Given the description of an element on the screen output the (x, y) to click on. 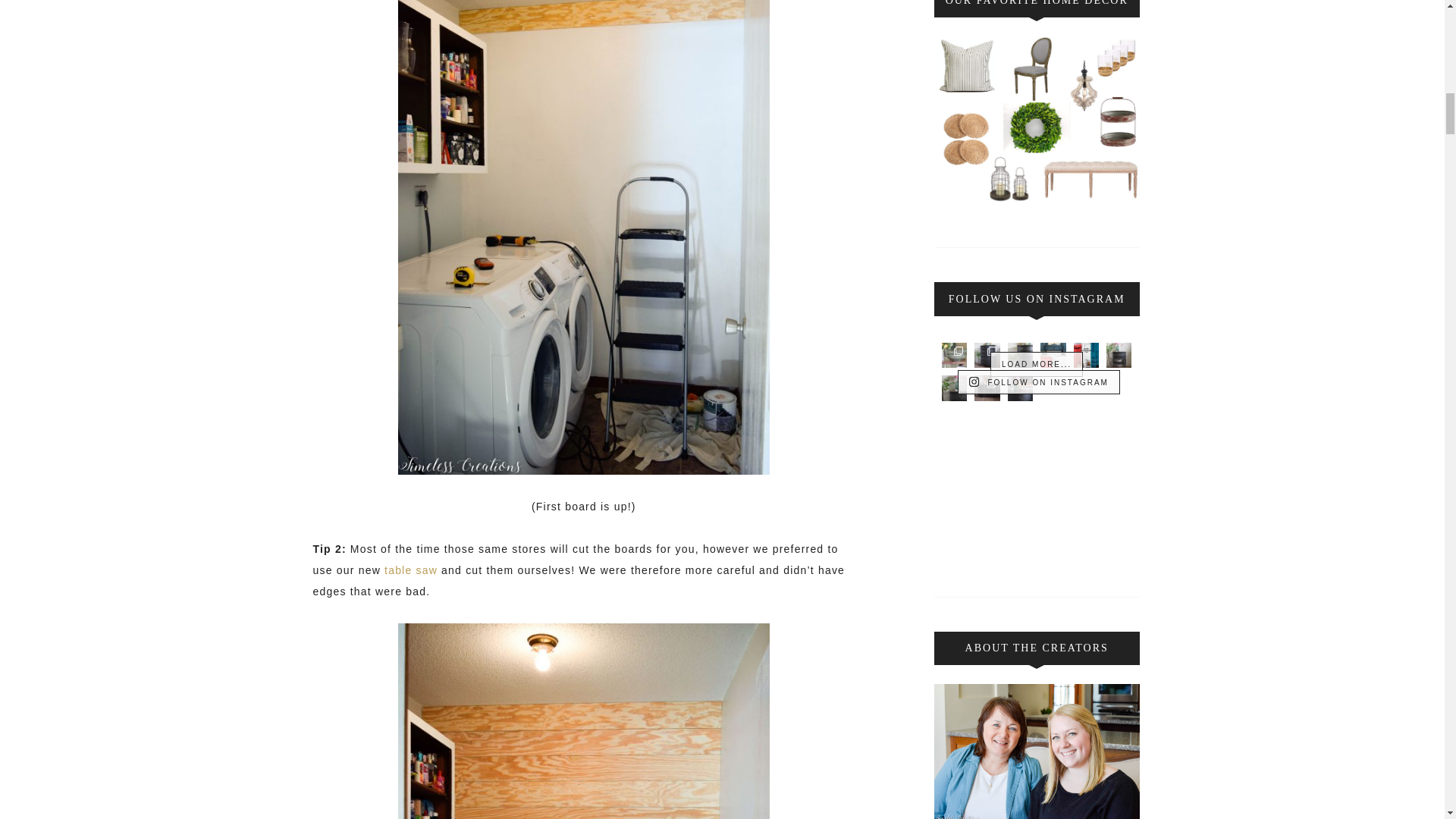
table saw (411, 570)
